Given the description of an element on the screen output the (x, y) to click on. 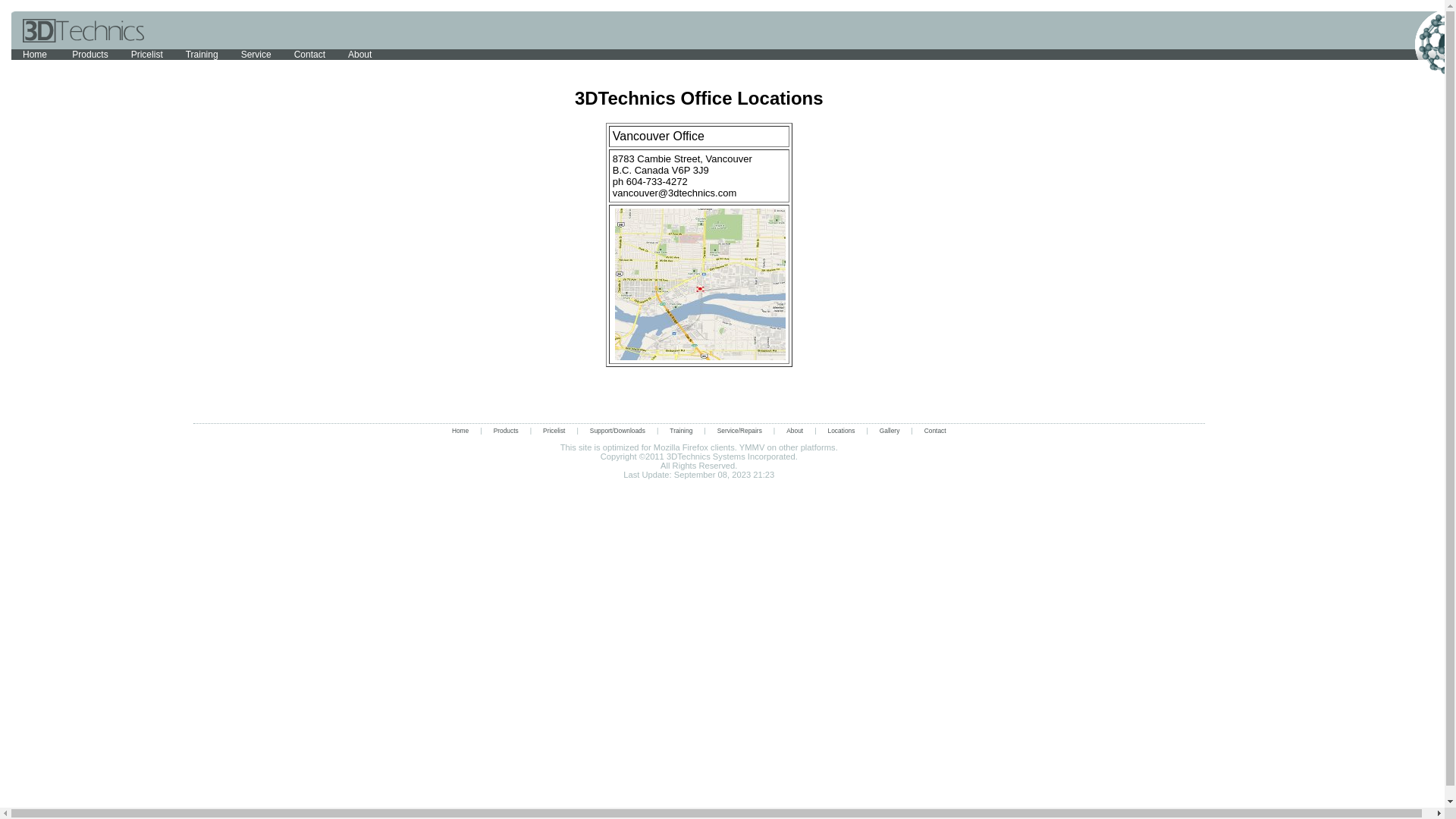
Service Element type: text (255, 54)
Contact Element type: text (935, 430)
Training Element type: text (680, 430)
Support/Downloads Element type: text (617, 430)
Gallery Element type: text (889, 430)
Training Element type: text (201, 54)
Home Element type: text (460, 430)
Locations Element type: text (841, 430)
About Element type: text (794, 430)
Pricelist Element type: text (553, 430)
About Element type: text (359, 54)
Service/Repairs Element type: text (739, 430)
Products Element type: text (506, 430)
Home Element type: text (35, 54)
Contact Element type: text (309, 54)
Pricelist Element type: text (146, 54)
Products Element type: text (89, 54)
